Given the description of an element on the screen output the (x, y) to click on. 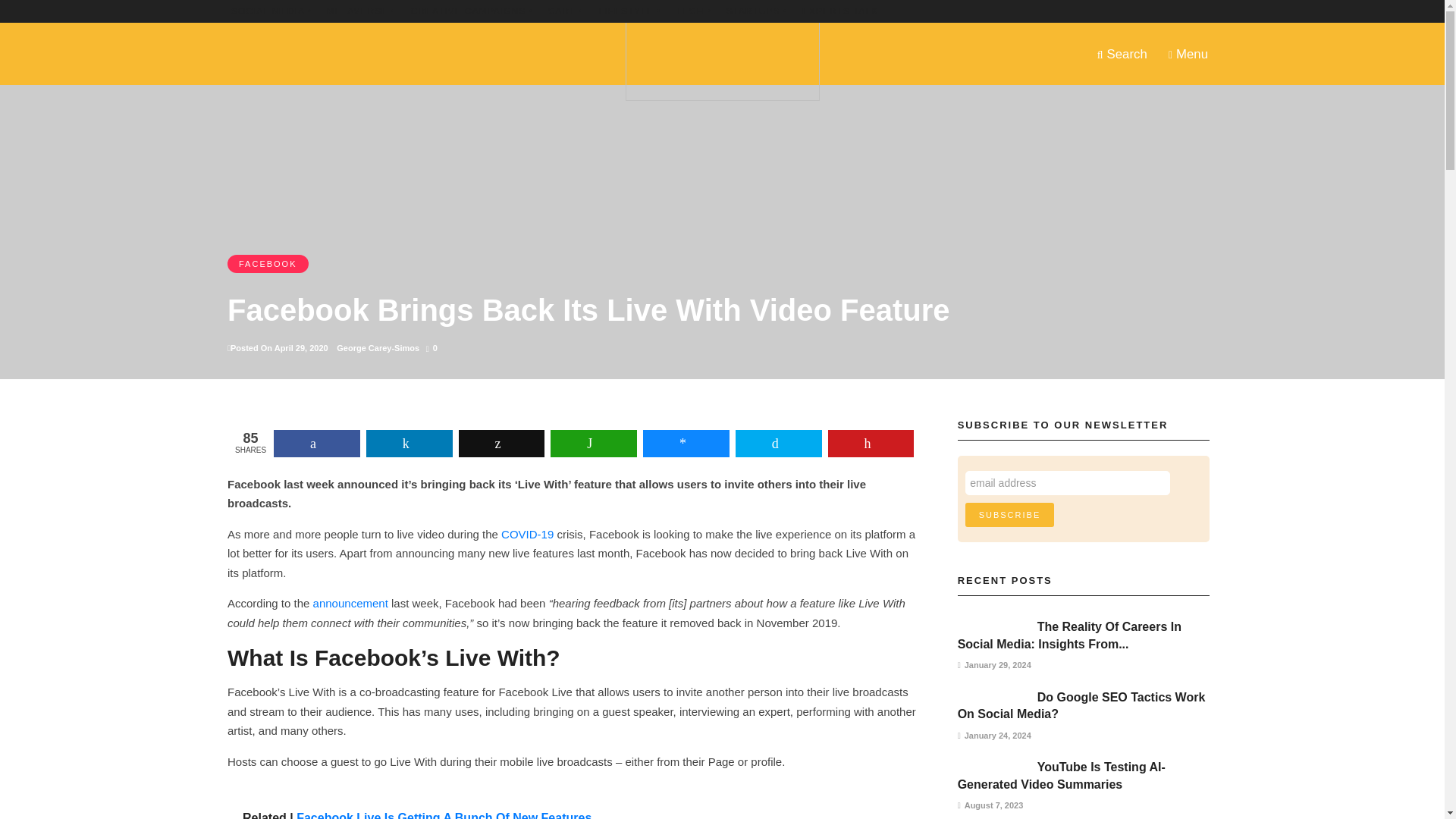
top-bar (692, 10)
Share on - (686, 443)
Share on - (778, 443)
Share on - (409, 443)
top-bar (361, 10)
FACEBOOK (267, 263)
top-bar (839, 10)
Subscribe (1009, 514)
George Carey-Simos (377, 347)
top-bar (629, 10)
